Given the description of an element on the screen output the (x, y) to click on. 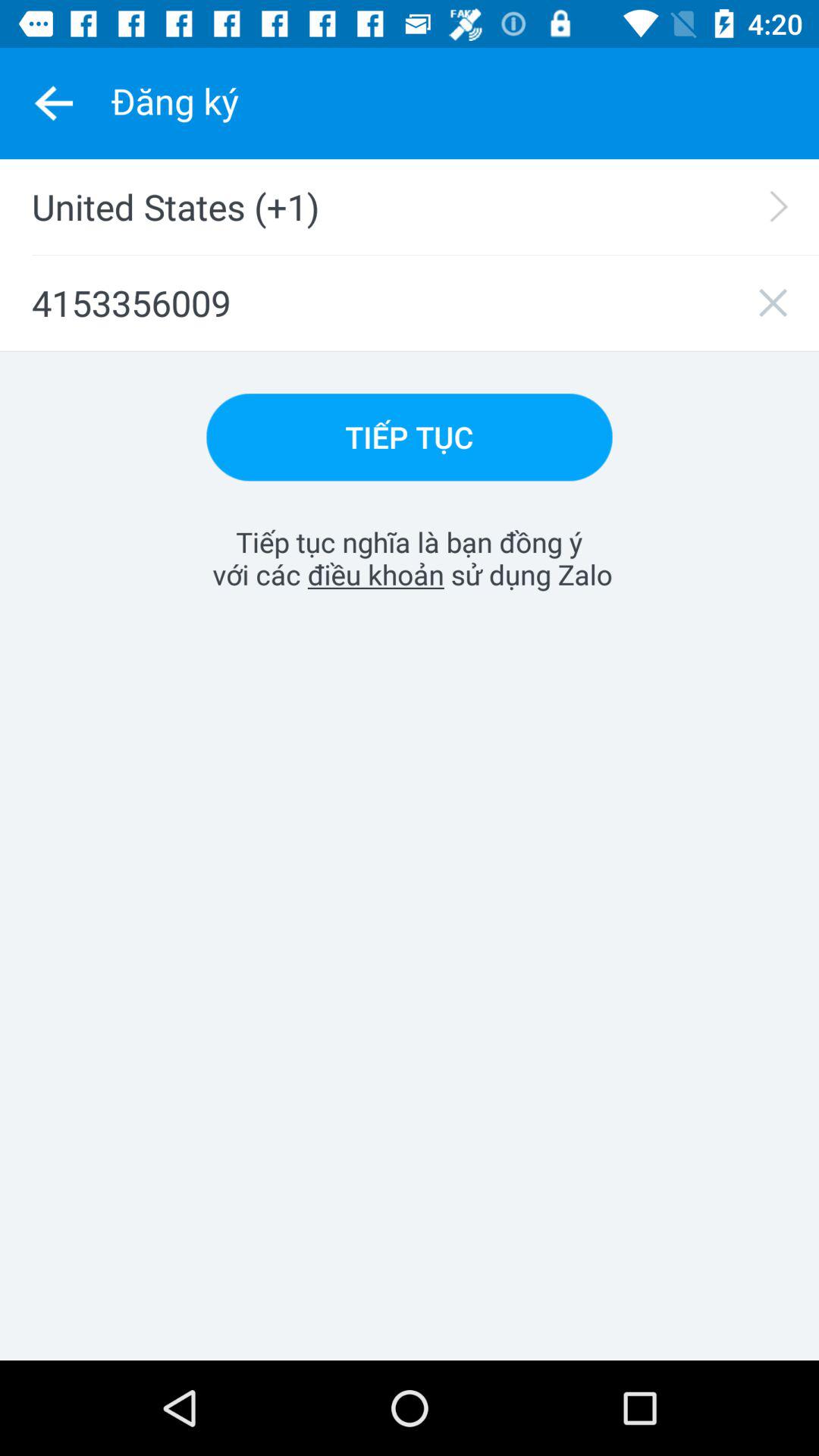
click the item above united states (+1) (53, 103)
